Given the description of an element on the screen output the (x, y) to click on. 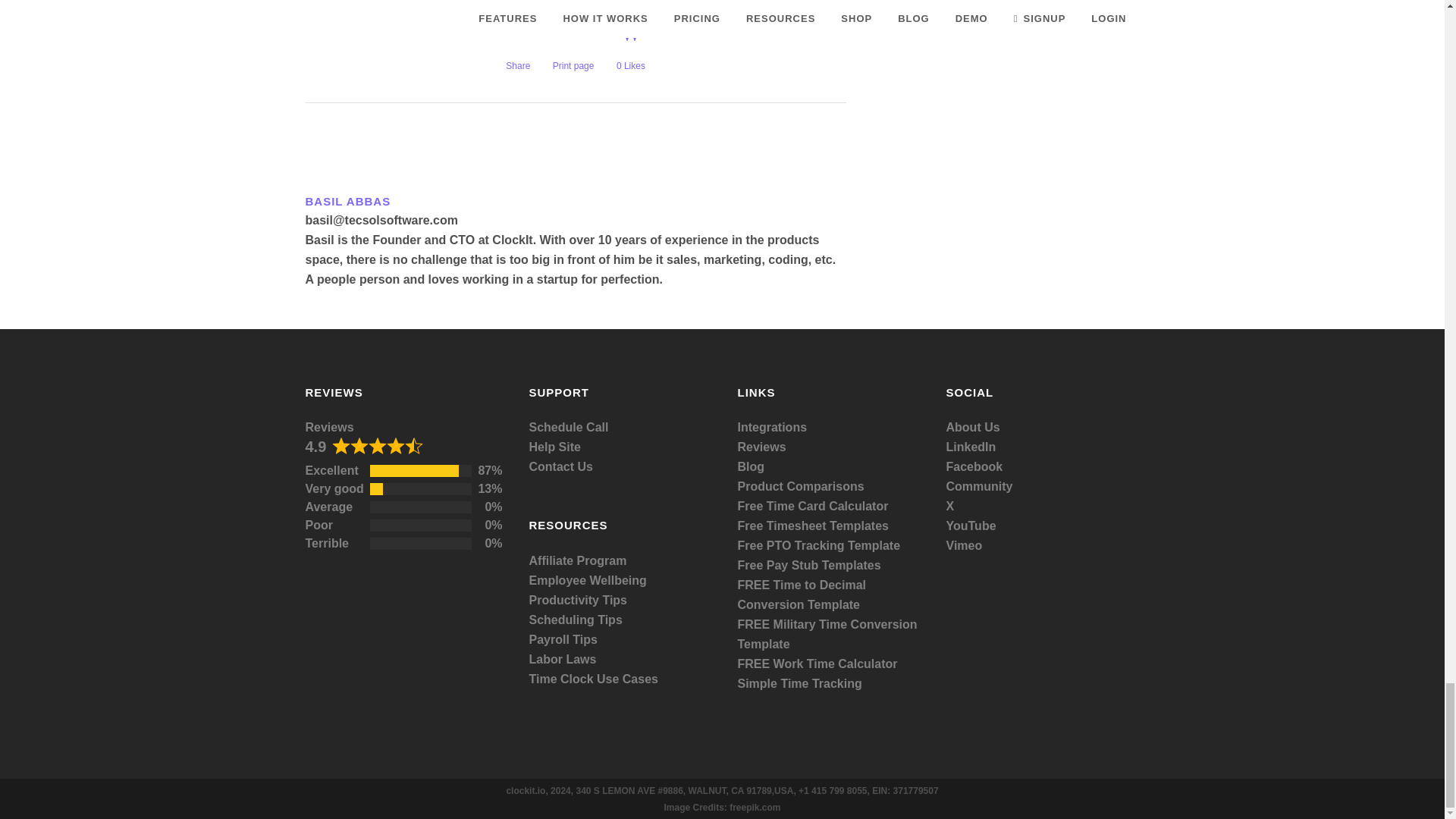
Like this (630, 50)
